Given the description of an element on the screen output the (x, y) to click on. 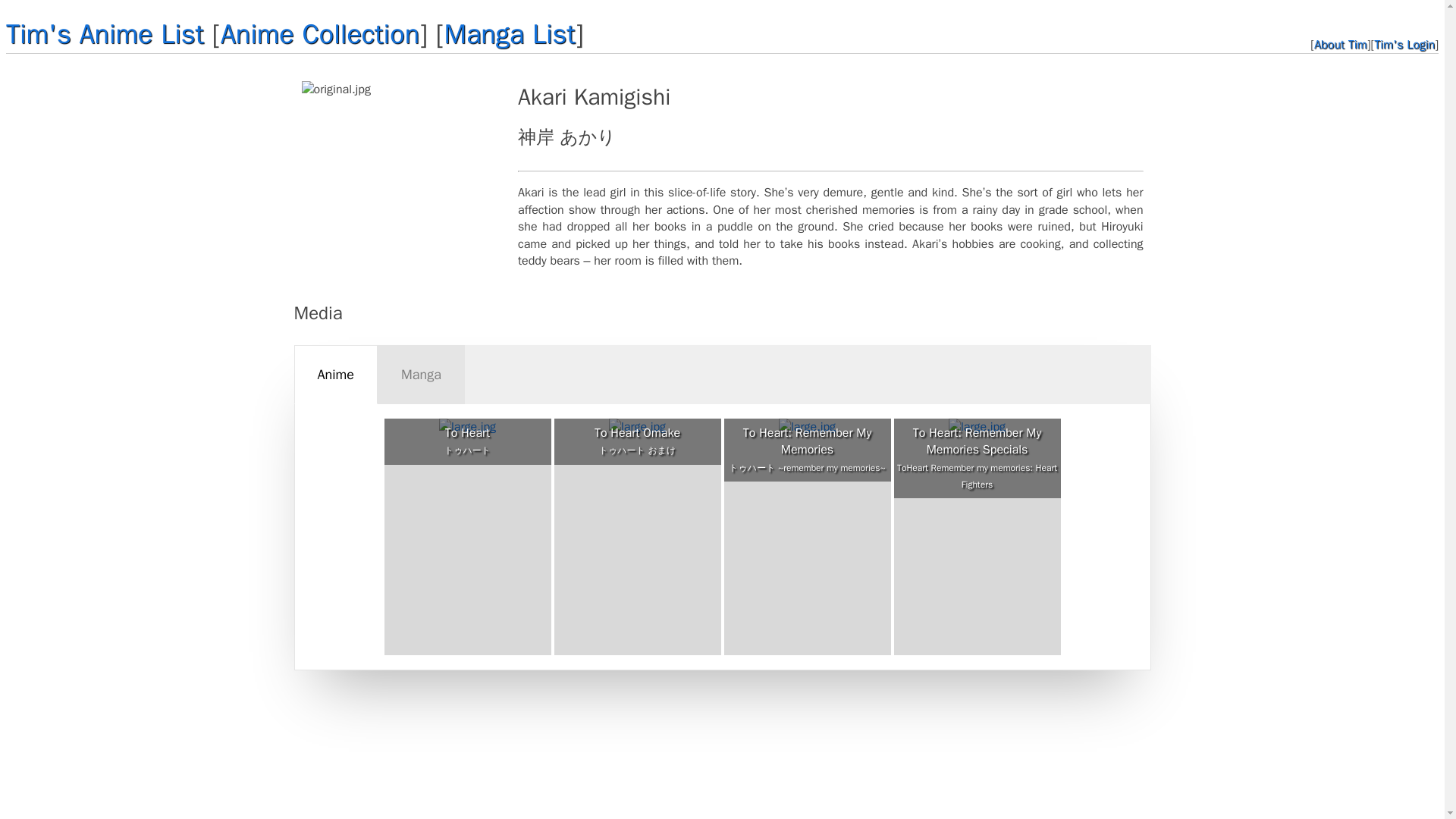
Anime Collection (320, 33)
Tim's Anime List (104, 33)
Manga List (509, 33)
About Tim (1340, 44)
